Given the description of an element on the screen output the (x, y) to click on. 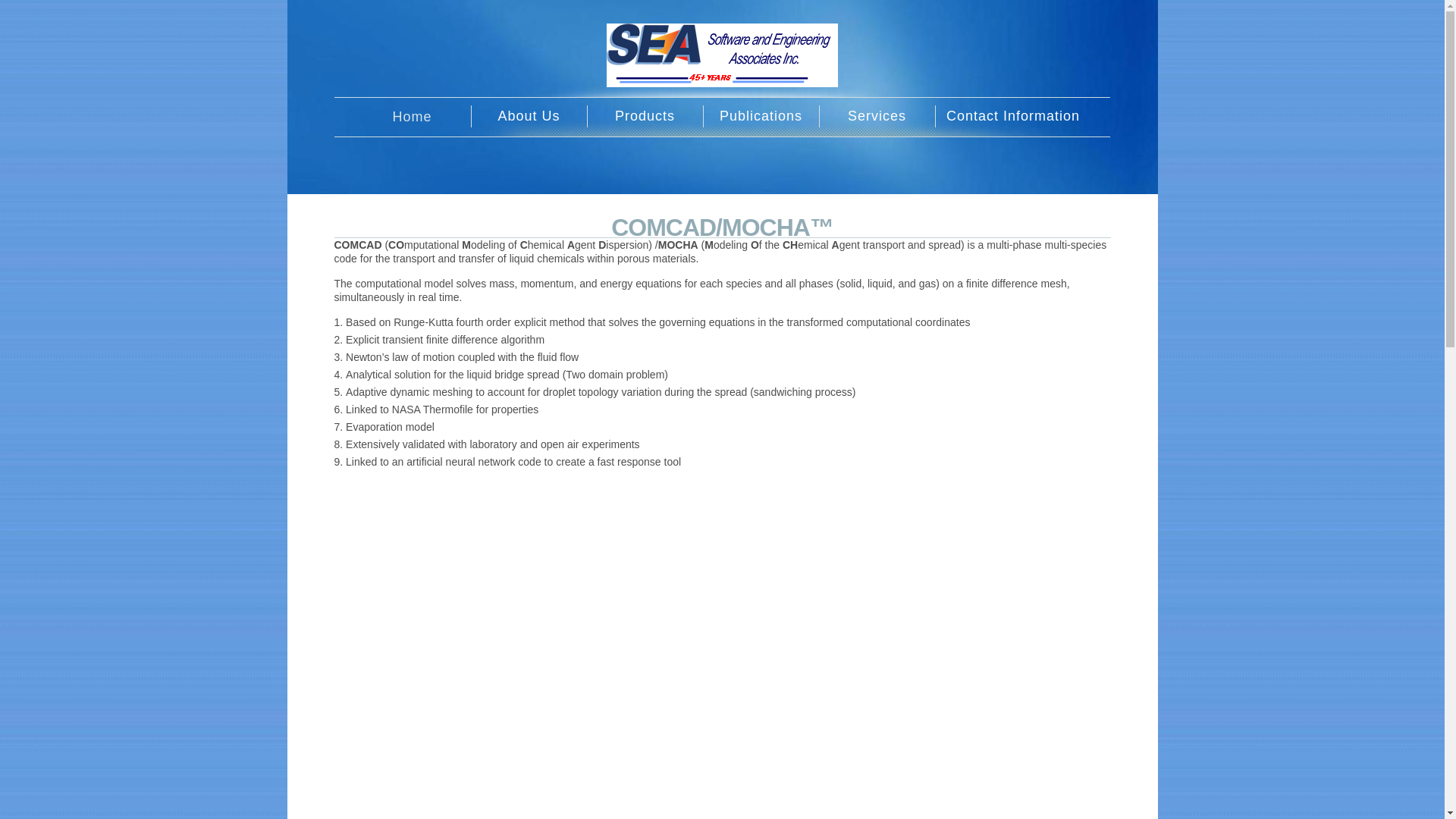
Services (876, 116)
Contact Information (1013, 116)
About Us (528, 116)
Products (644, 116)
Home (410, 116)
Publications (760, 116)
